Given the description of an element on the screen output the (x, y) to click on. 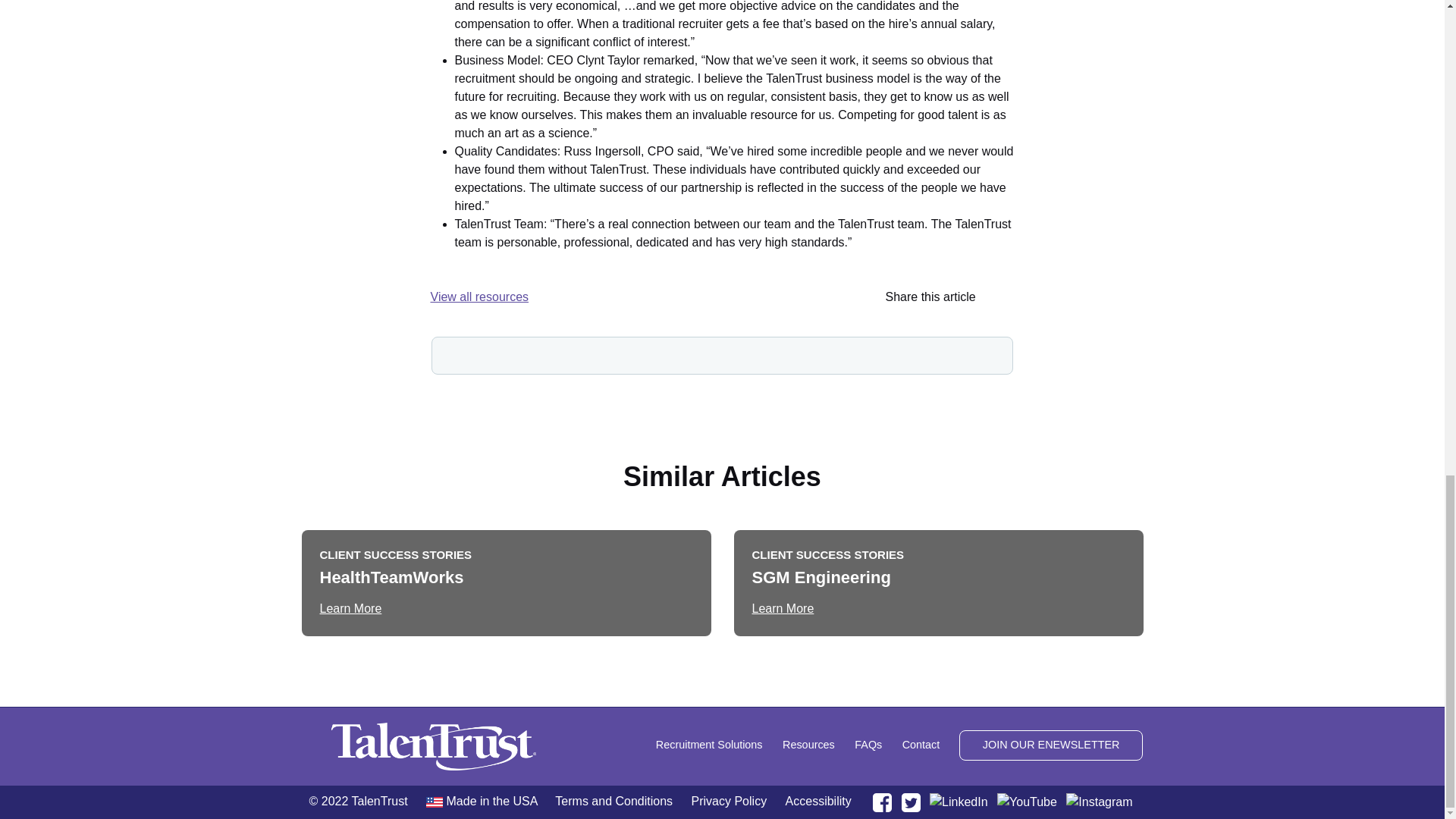
Talentrust (433, 746)
